Given the description of an element on the screen output the (x, y) to click on. 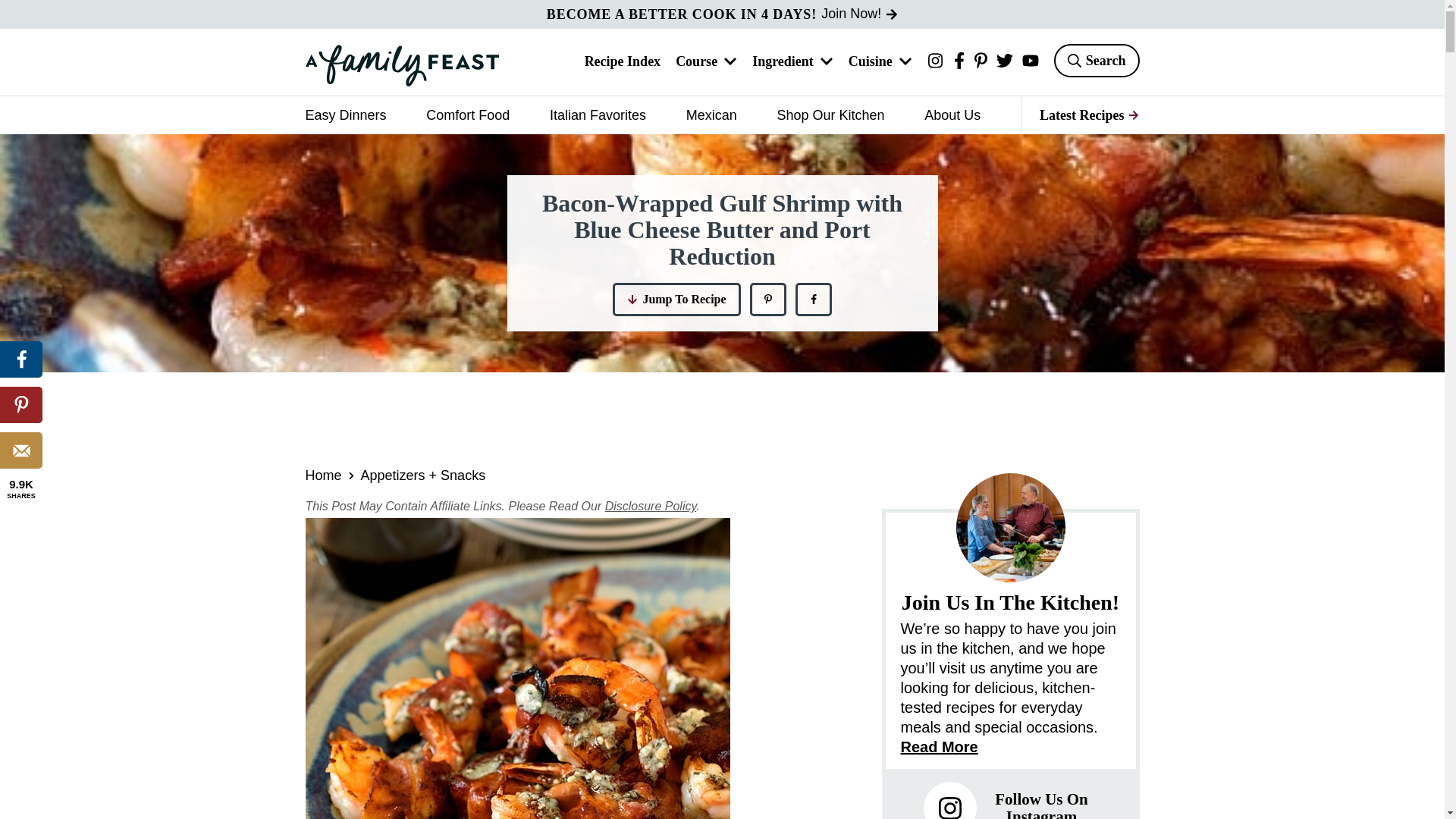
Save to Pinterest (21, 404)
Send over email (21, 450)
Recipe Index (623, 62)
Join Now! (859, 13)
Save to Pinterest (767, 299)
Share on Facebook (812, 299)
Share on Facebook (21, 359)
